Given the description of an element on the screen output the (x, y) to click on. 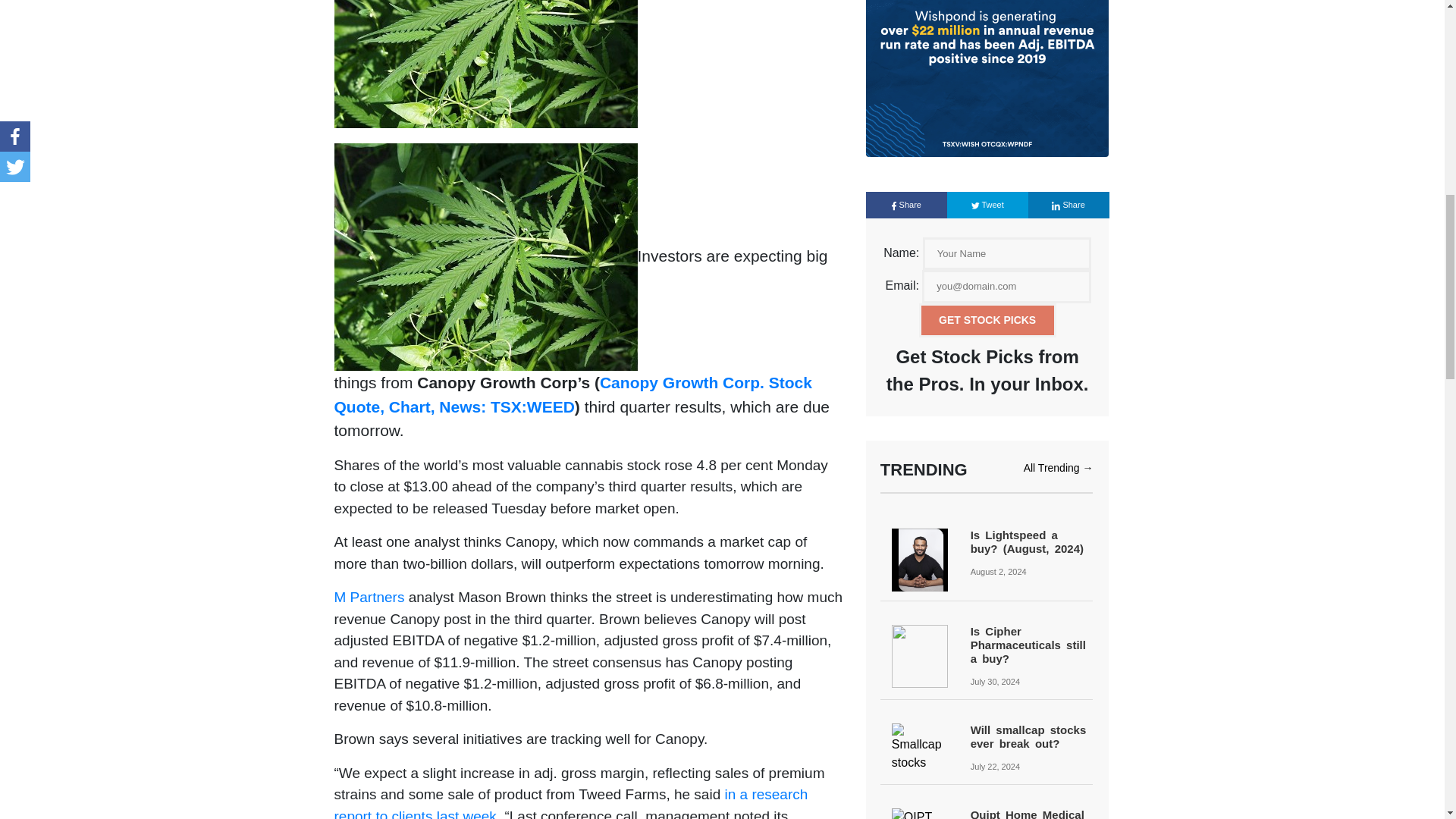
Canopy Growth Corp. Stock Quote, Chart, News: TSX:WEED (574, 394)
M Partners (368, 596)
GET STOCK PICKS (987, 320)
